Given the description of an element on the screen output the (x, y) to click on. 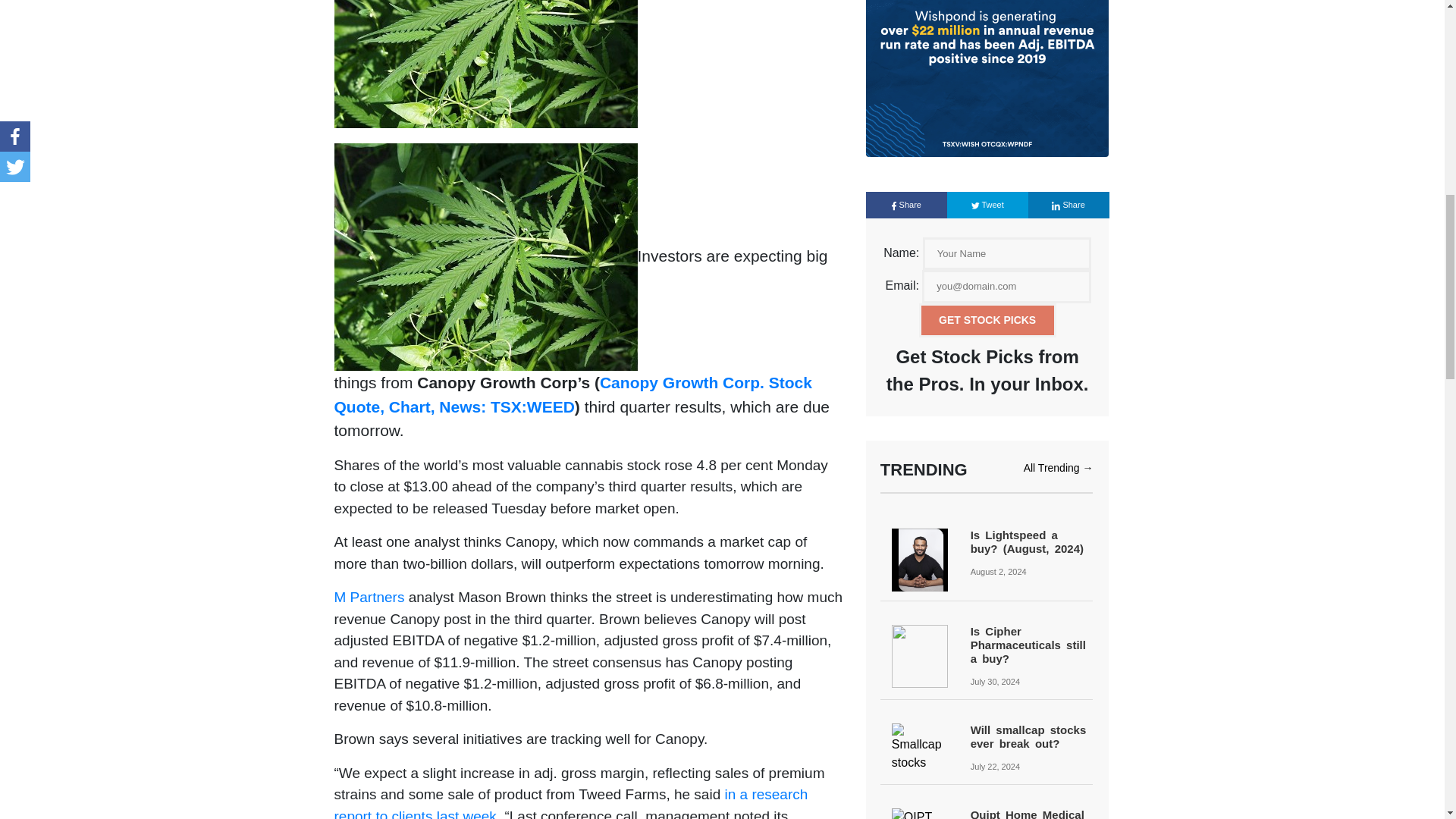
Canopy Growth Corp. Stock Quote, Chart, News: TSX:WEED (574, 394)
M Partners (368, 596)
GET STOCK PICKS (987, 320)
